Given the description of an element on the screen output the (x, y) to click on. 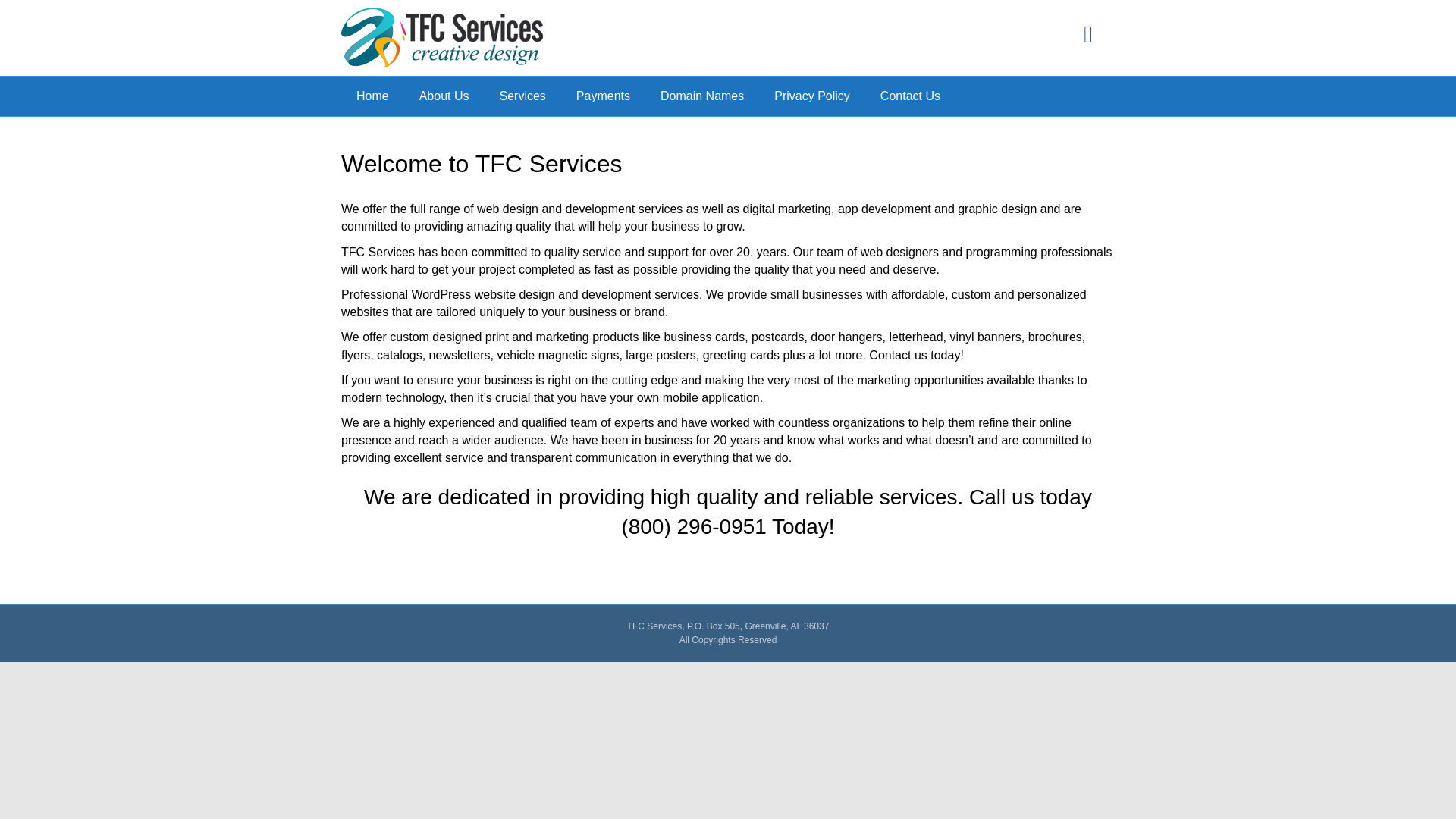
About Us (444, 96)
Home (372, 96)
Services (521, 96)
Domain Names (701, 96)
Facebook (1088, 33)
Payments (602, 96)
Contact Us (909, 96)
Privacy Policy (811, 96)
